Given the description of an element on the screen output the (x, y) to click on. 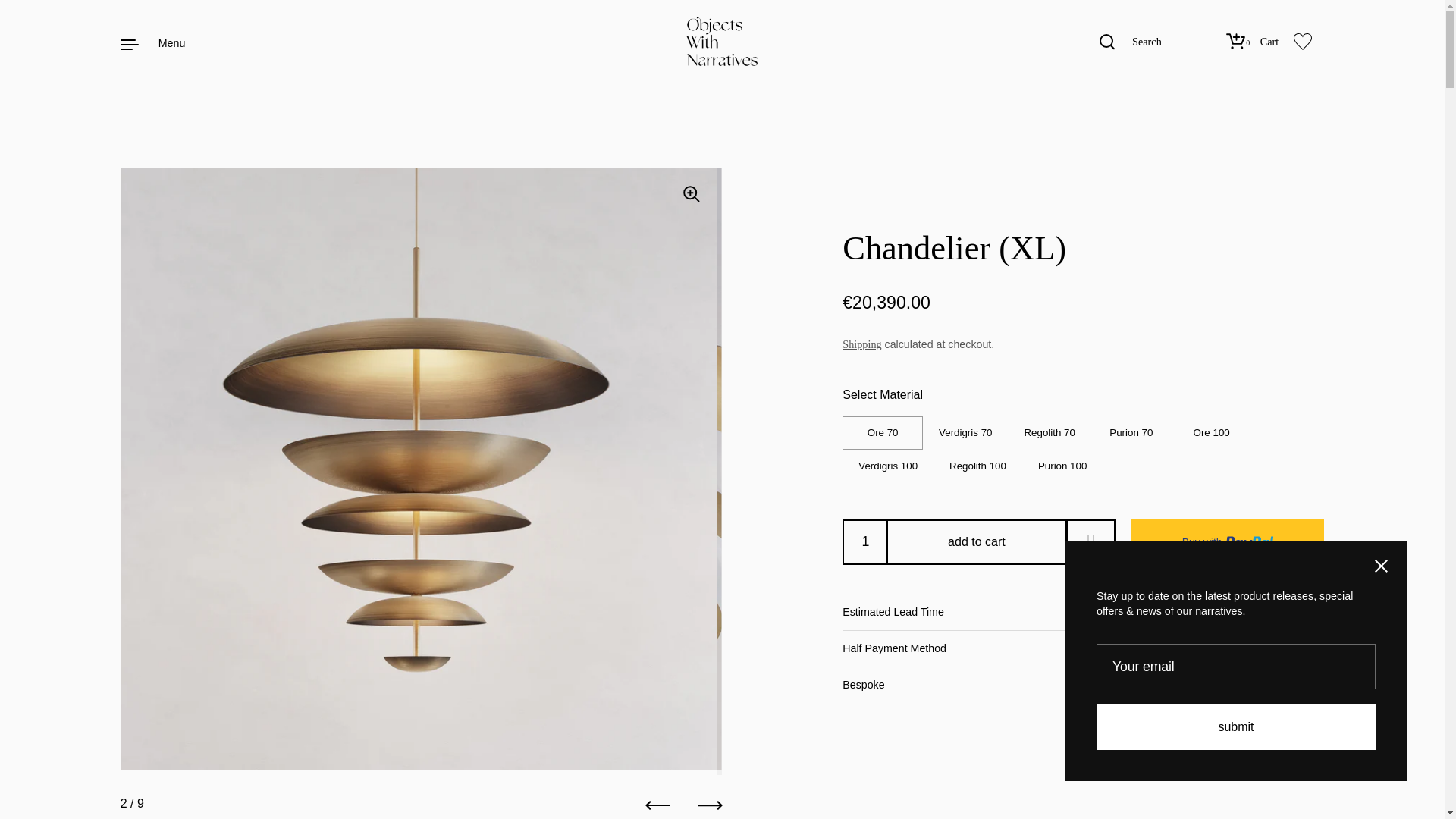
1 (865, 542)
Skip to content (1253, 42)
Menu (1131, 42)
Objects With Narratives (154, 42)
